Given the description of an element on the screen output the (x, y) to click on. 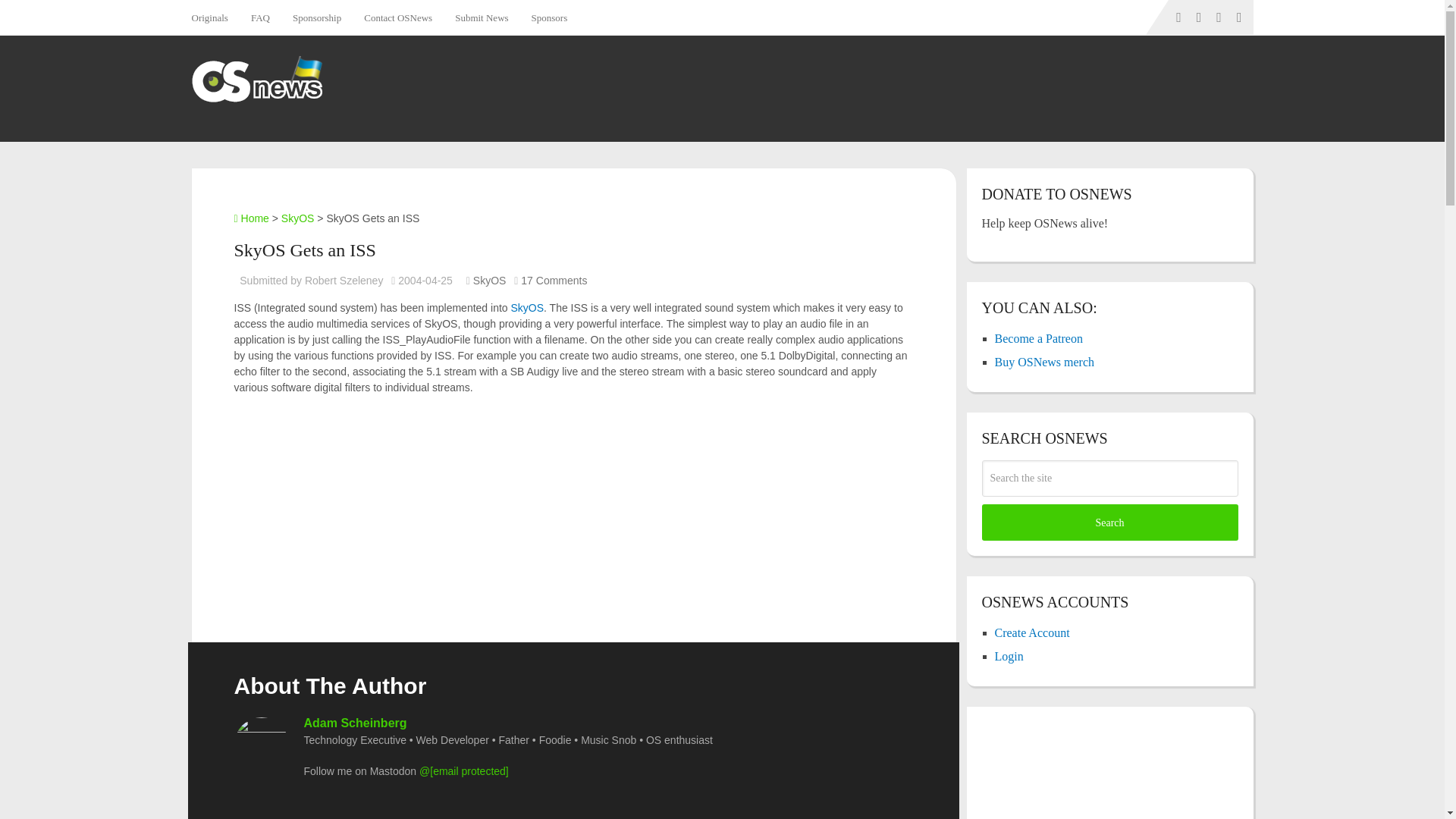
17 Comments (553, 280)
SkyOS (527, 307)
 Home (249, 218)
FAQ (260, 17)
Contact OSNews (398, 17)
Originals (214, 17)
Sponsors (549, 17)
Become a Patreon (1038, 338)
View all posts in SkyOS (489, 280)
Submit News (481, 17)
